Given the description of an element on the screen output the (x, y) to click on. 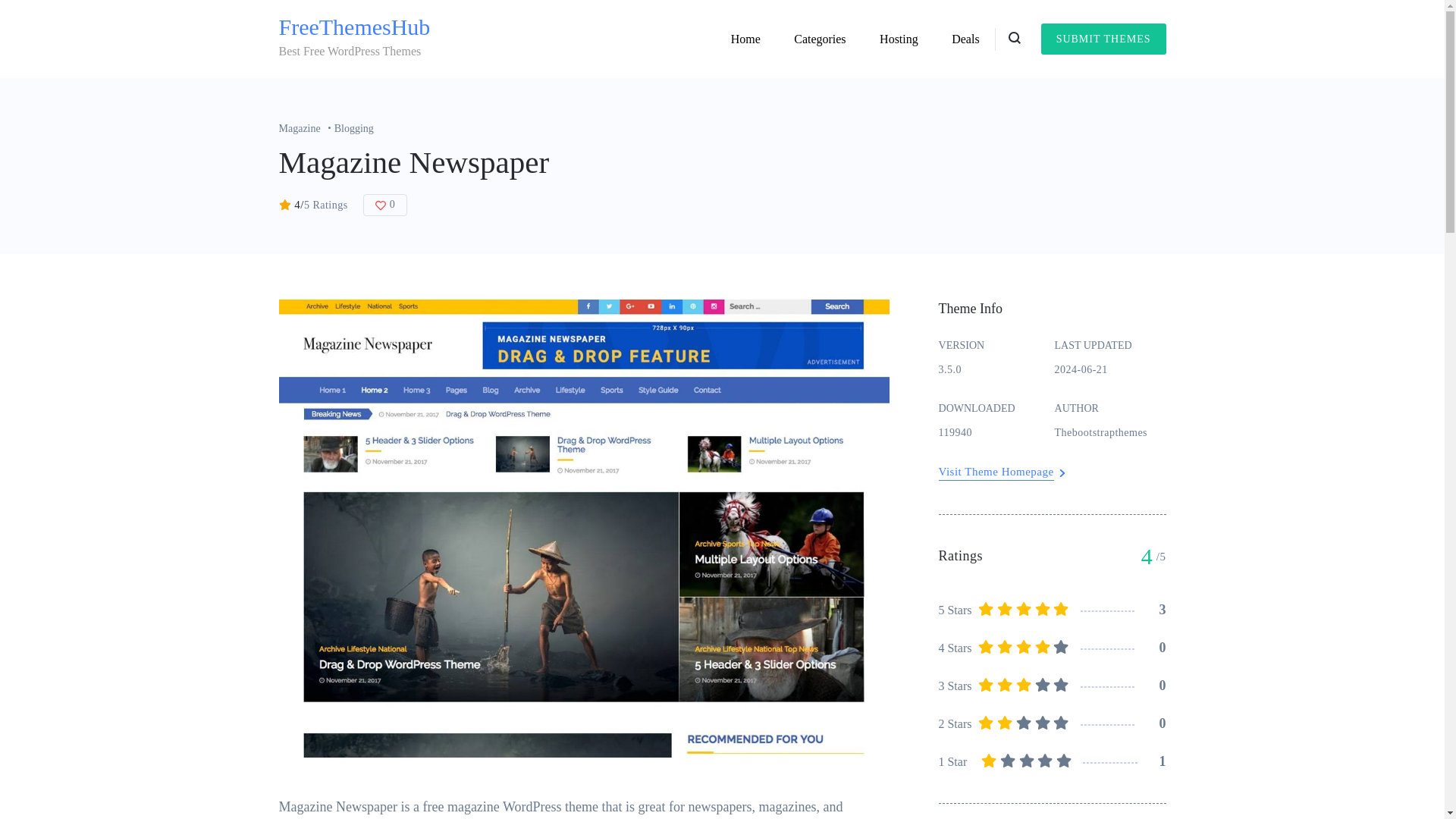
Categories (819, 39)
Magazine (306, 128)
SUBMIT THEMES (1103, 39)
Home (746, 39)
Search (882, 412)
Hosting (898, 39)
Blogging (354, 128)
FreeThemesHub (354, 26)
Visit Theme Homepage (996, 472)
Deals (965, 39)
0 (384, 205)
